Given the description of an element on the screen output the (x, y) to click on. 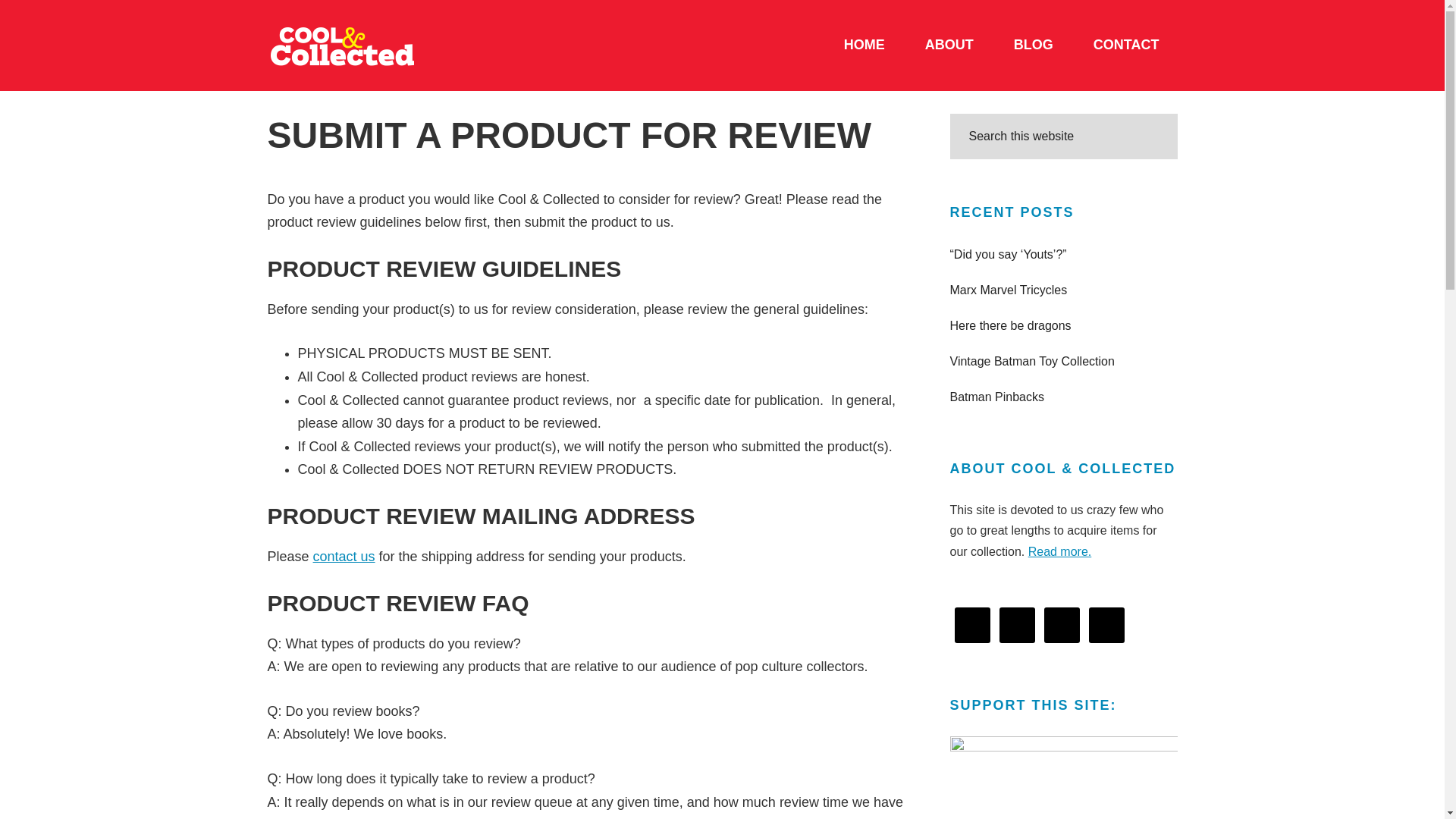
Vintage Batman Toy Collection (1031, 360)
ABOUT (949, 44)
CONTACT (1125, 44)
Read more. (1059, 550)
Here there be dragons (1009, 325)
Marx Marvel Tricycles (1008, 289)
HOME (864, 44)
contact us (344, 556)
Batman Pinbacks (996, 396)
COOL AND COLLECTED (380, 44)
